Given the description of an element on the screen output the (x, y) to click on. 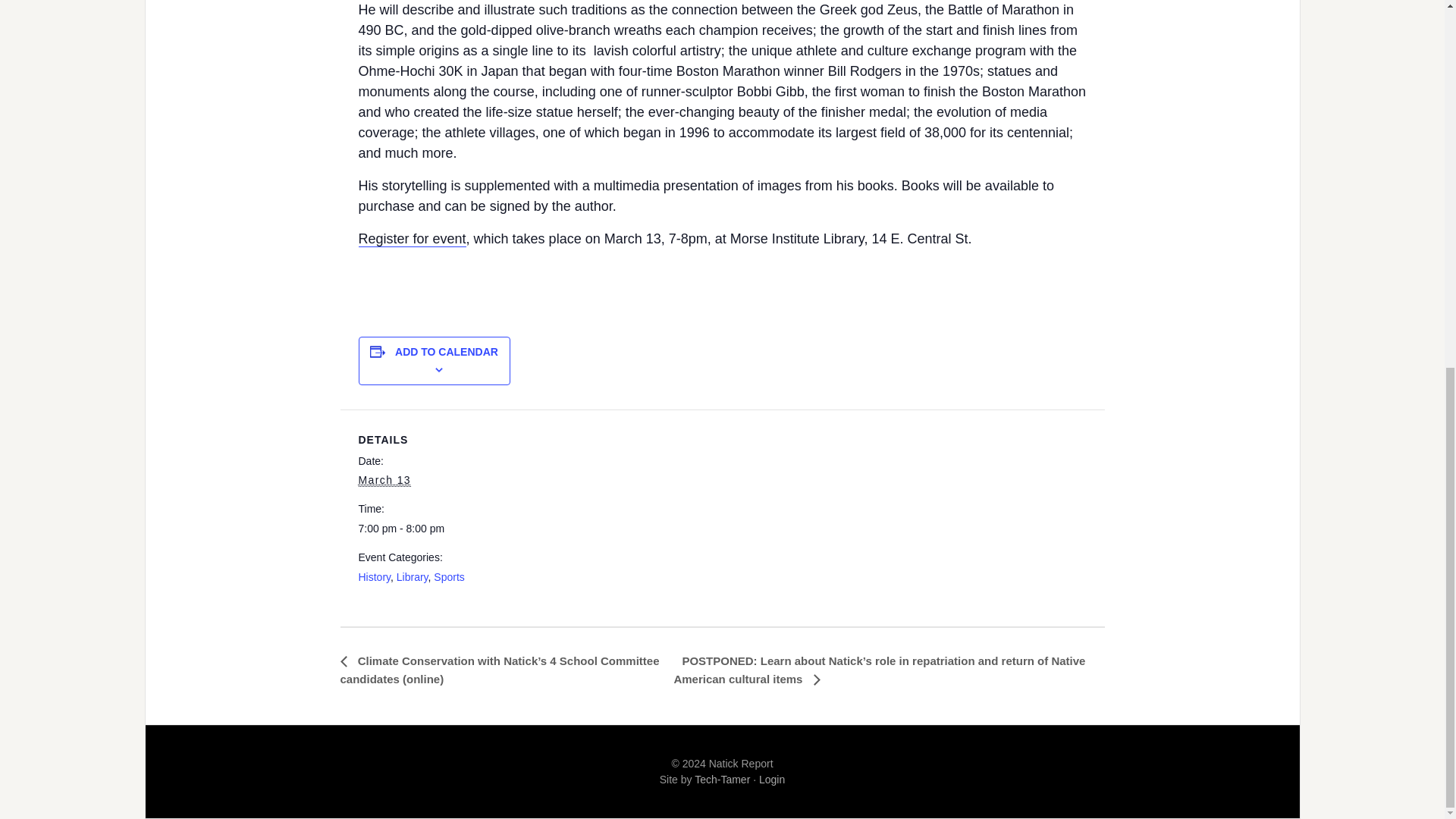
History (374, 576)
Register for event (411, 238)
Library (412, 576)
Sports (448, 576)
ADD TO CALENDAR (445, 351)
2024-03-13 (384, 480)
2024-03-13 (421, 528)
